Given the description of an element on the screen output the (x, y) to click on. 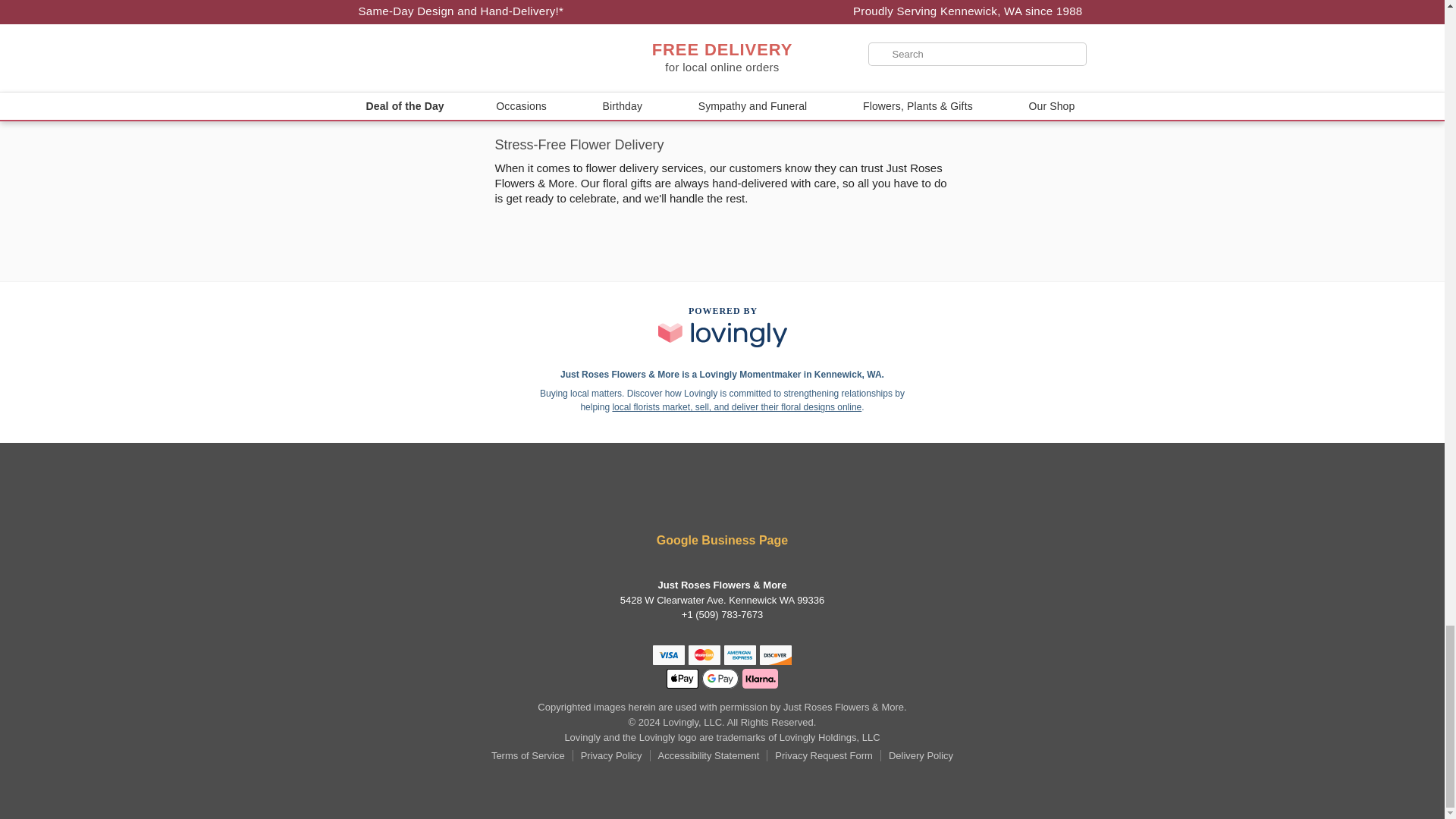
POWERED BY (722, 325)
